Given the description of an element on the screen output the (x, y) to click on. 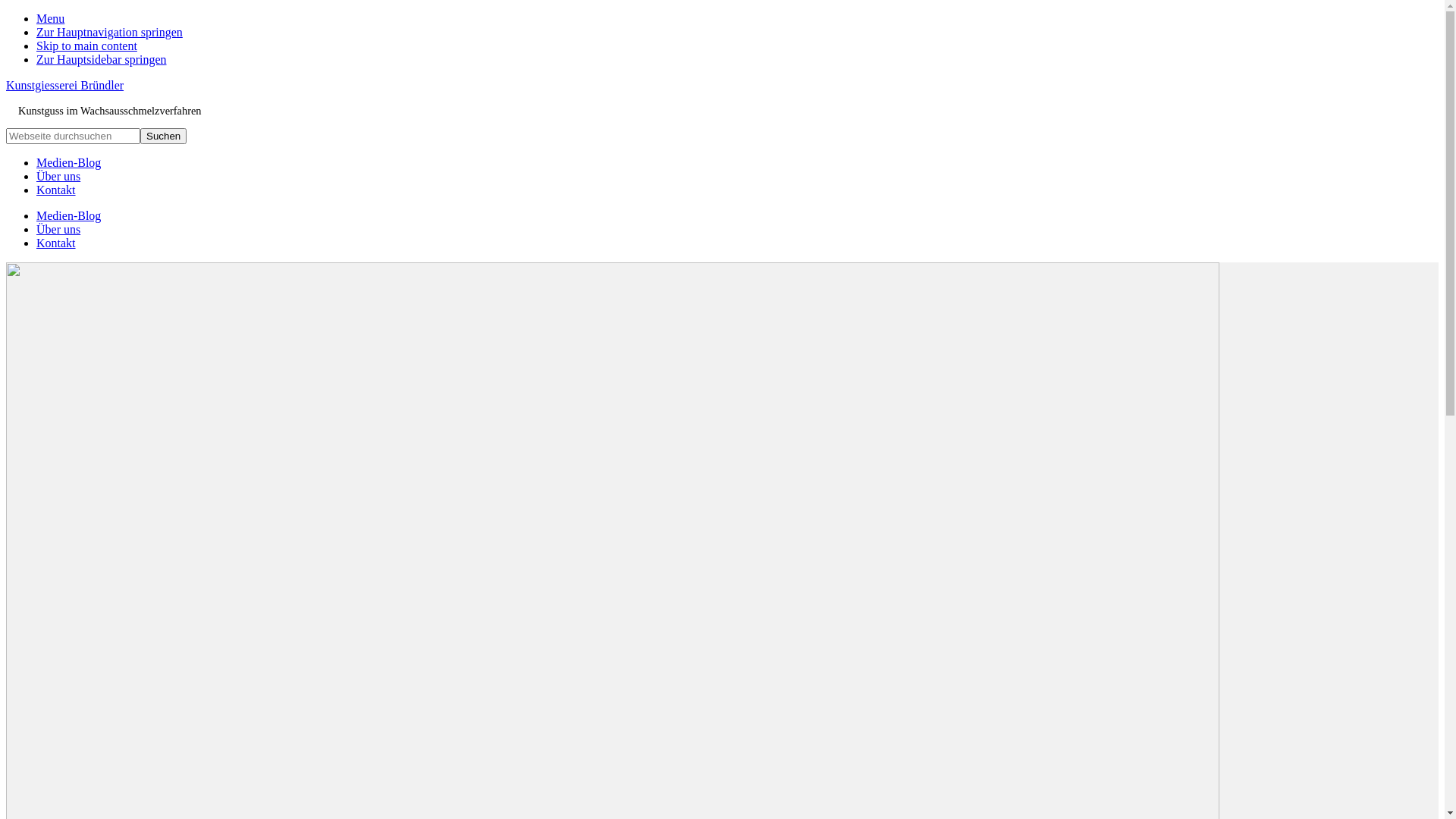
Zur Hauptsidebar springen Element type: text (101, 59)
Skip to main content Element type: text (86, 45)
Suchen Element type: text (163, 136)
Medien-Blog Element type: text (68, 215)
Zur Hauptnavigation springen Element type: text (109, 31)
Medien-Blog Element type: text (68, 162)
Menu Element type: text (50, 18)
Kontakt Element type: text (55, 189)
Kontakt Element type: text (55, 242)
